Given the description of an element on the screen output the (x, y) to click on. 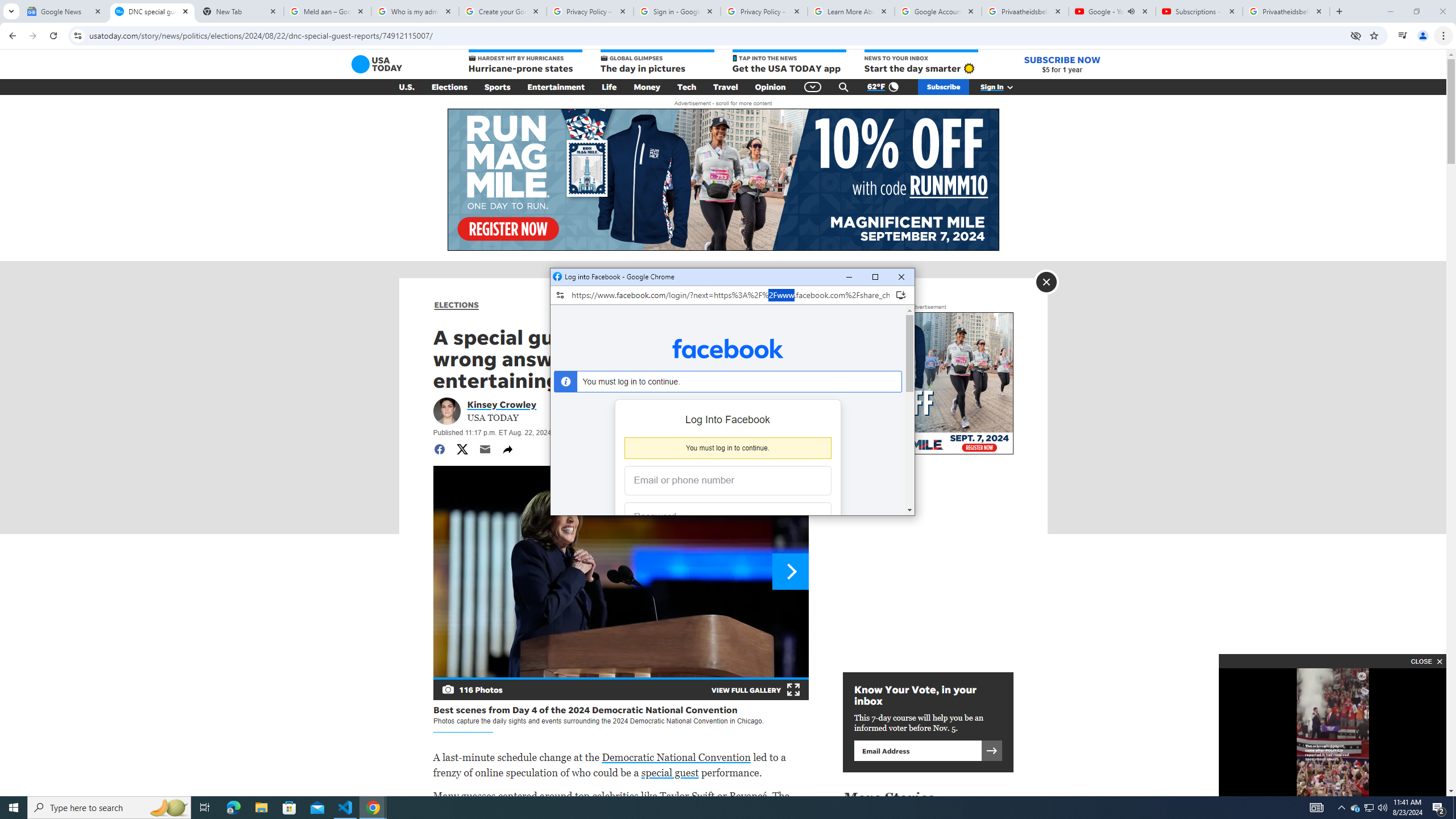
Microsoft Edge (233, 807)
Facebook (727, 348)
U.S. (406, 87)
Close autoplay video player (1425, 661)
AutomationID: 4105 (1316, 807)
Install Facebook (900, 295)
